Given the description of an element on the screen output the (x, y) to click on. 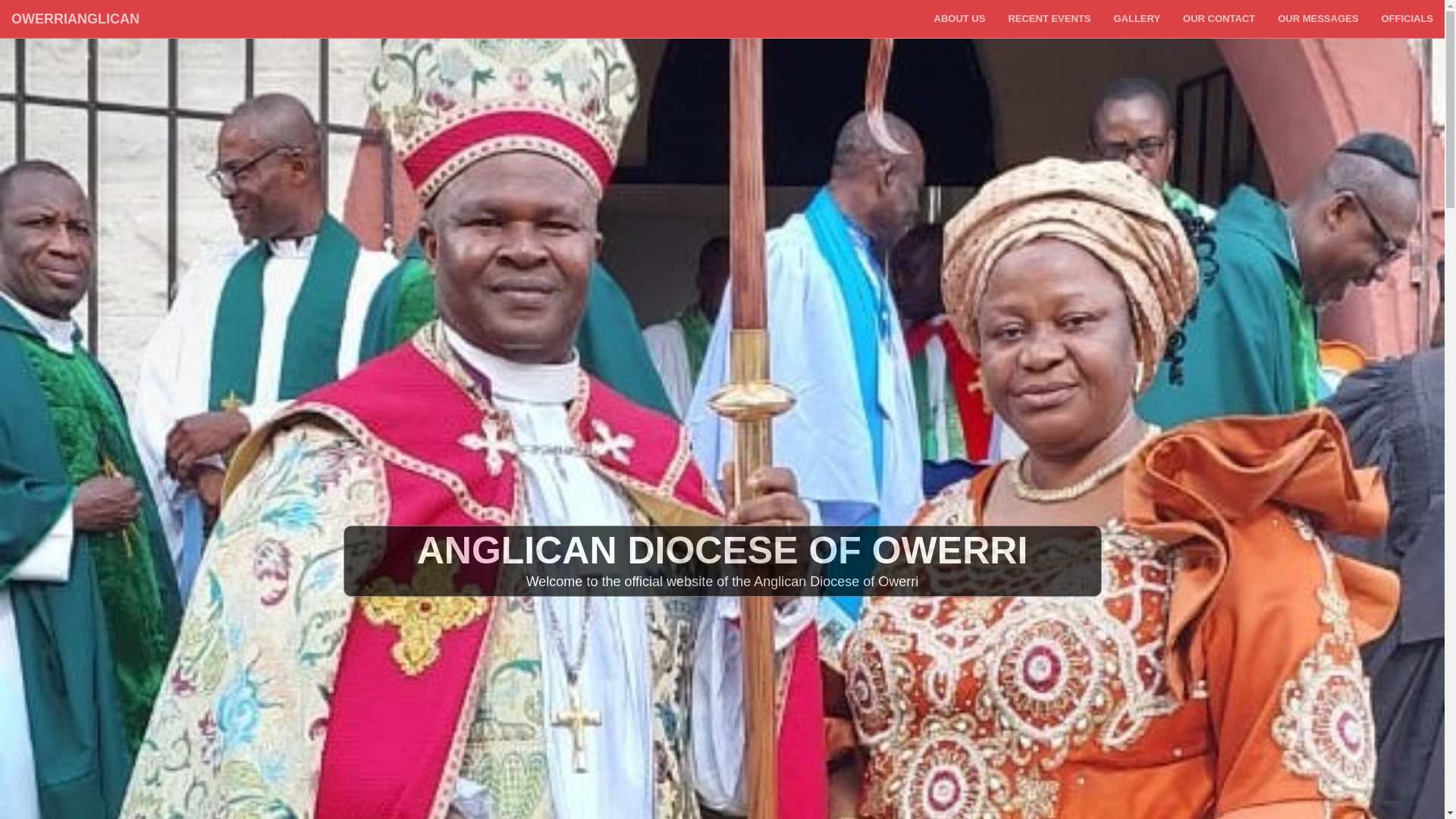
GALLERY (1137, 18)
OWERRIANGLICAN (75, 18)
RECENT EVENTS (1048, 18)
OUR CONTACT (1219, 18)
OUR MESSAGES (1318, 18)
ABOUT US (958, 18)
GALLERY (1137, 18)
OUR MESSAGES (1318, 18)
ABOUT US (958, 18)
OUR CONTACT (1219, 18)
OWERRIANGLICAN (75, 18)
RECENT EVENTS (1048, 18)
